Given the description of an element on the screen output the (x, y) to click on. 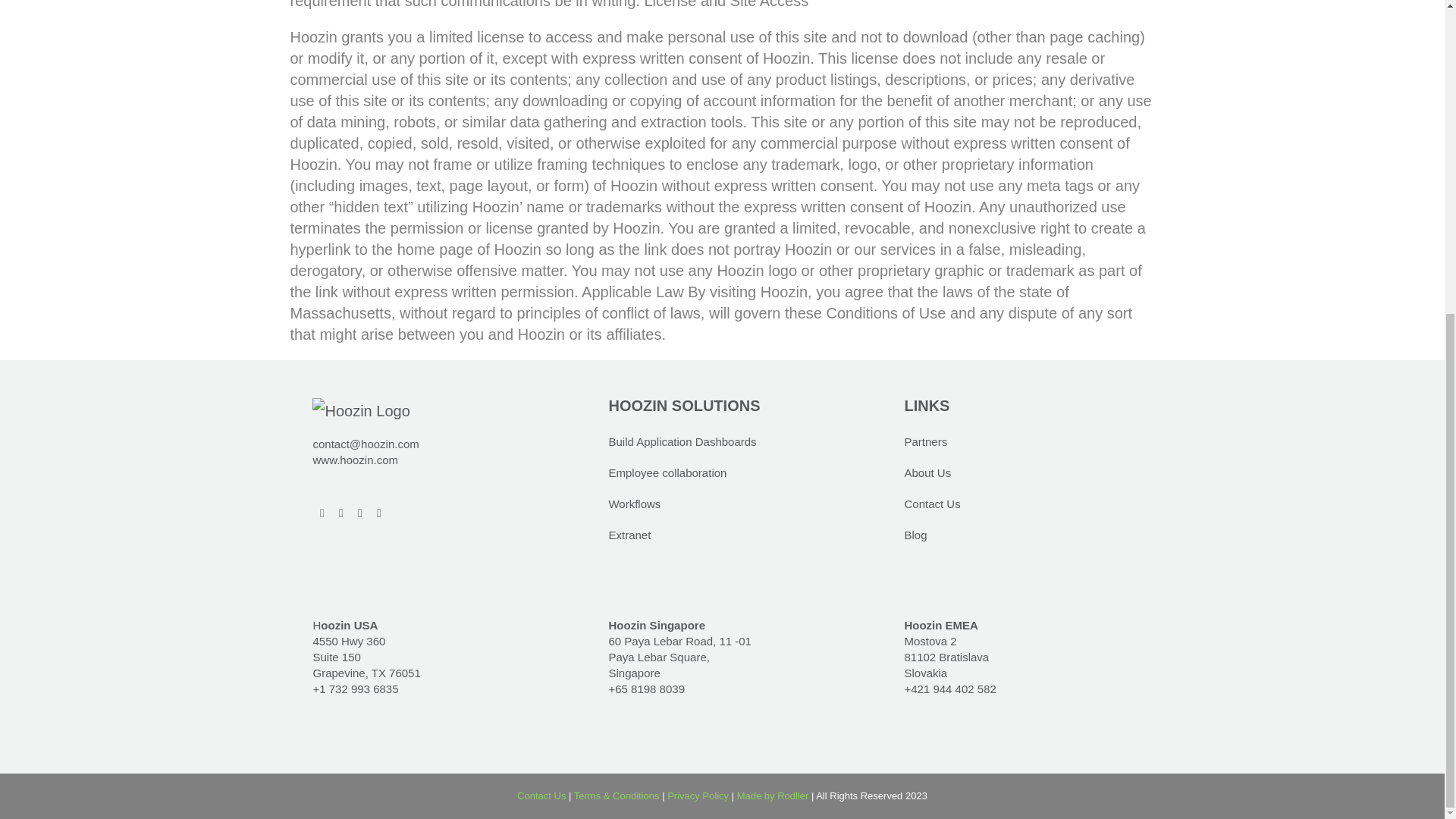
hoozinsoftware Facebook Page (340, 505)
